Given the description of an element on the screen output the (x, y) to click on. 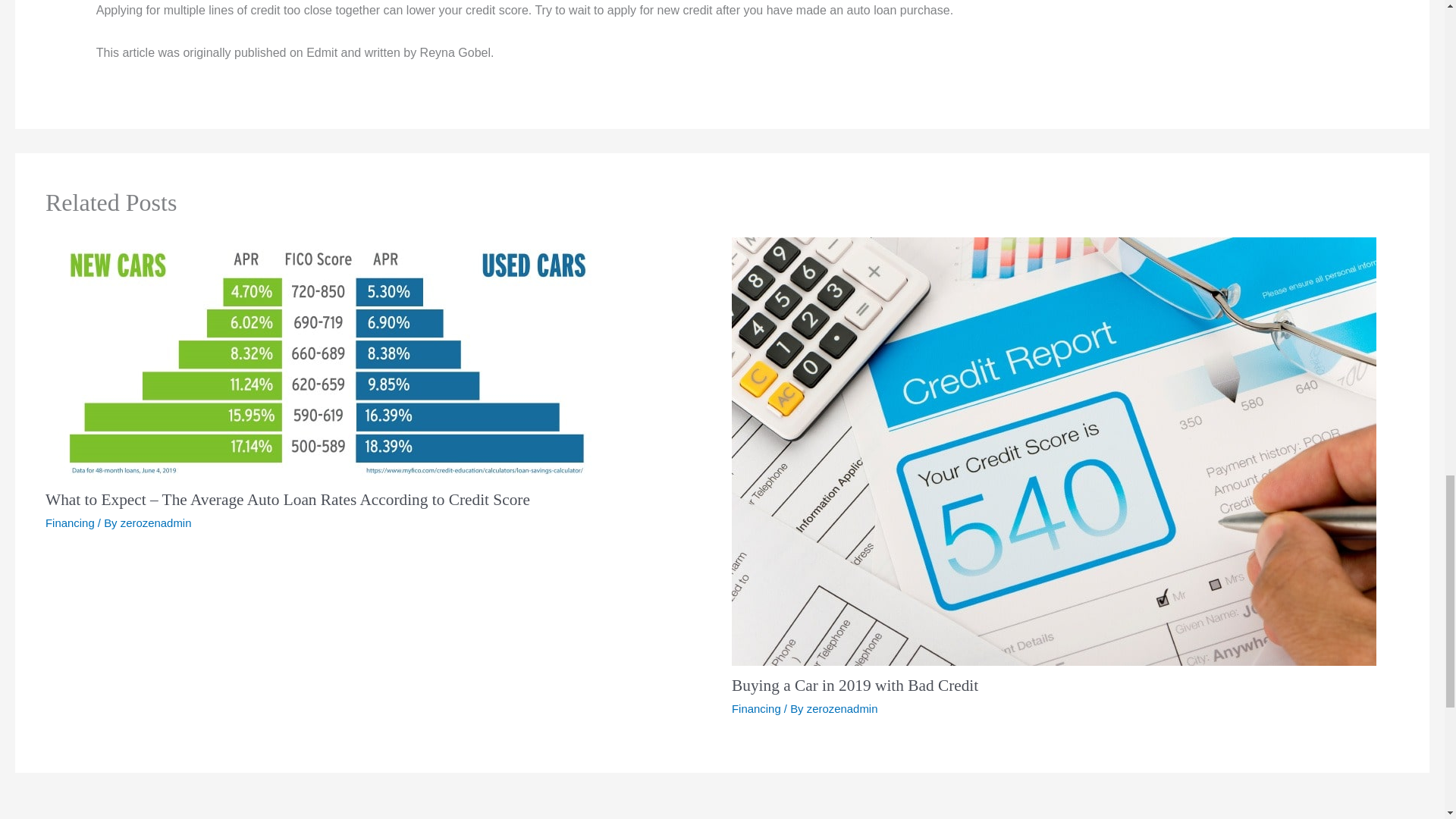
Financing (756, 707)
Buying a Car in 2019 with Bad Credit (855, 685)
Financing (69, 522)
View all posts by zerozenadmin (156, 522)
View all posts by zerozenadmin (841, 707)
zerozenadmin (841, 707)
zerozenadmin (156, 522)
